Given the description of an element on the screen output the (x, y) to click on. 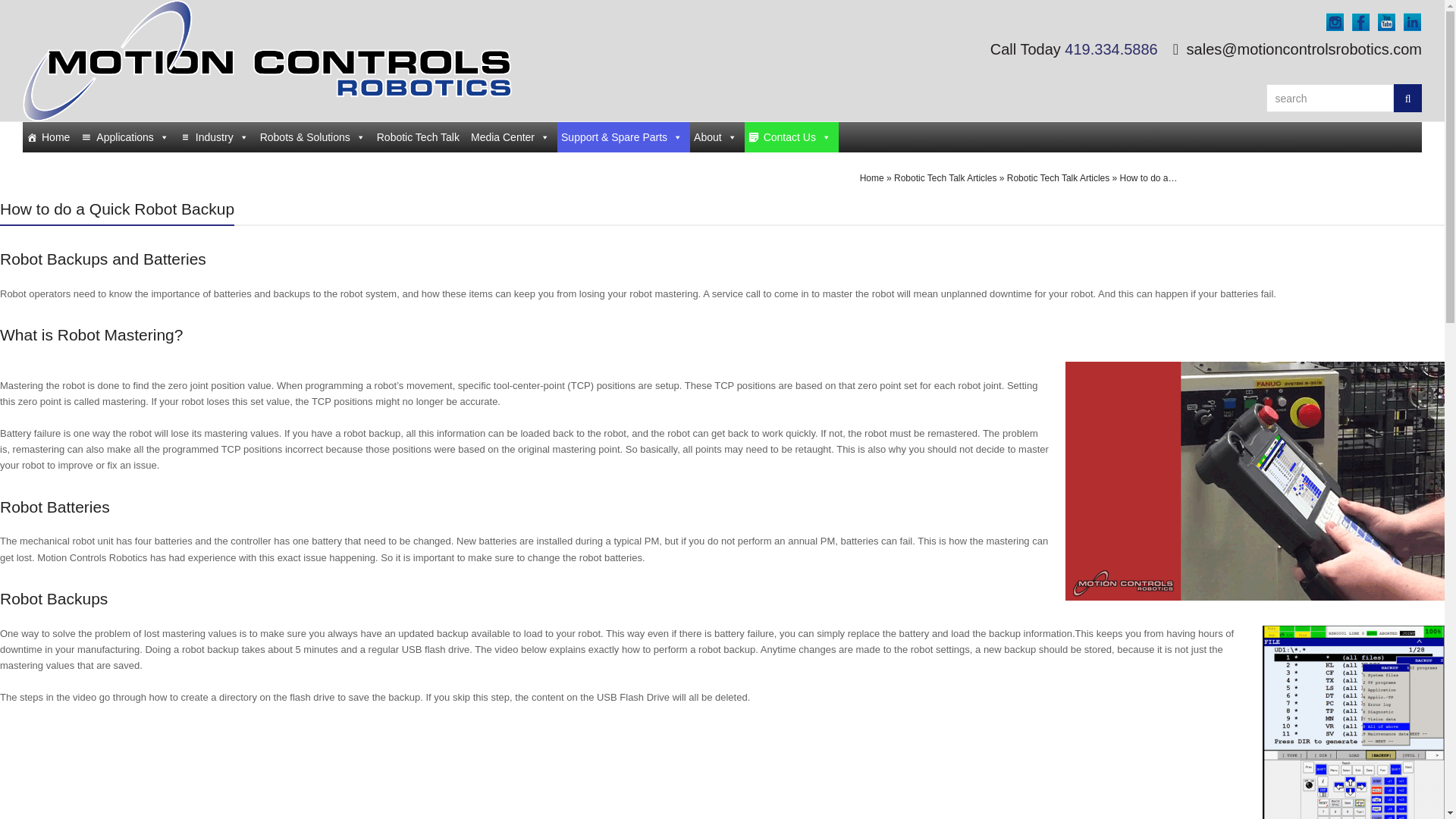
419.334.5886 (1110, 48)
Search (1407, 98)
Home (50, 137)
Applications (126, 137)
Industry (216, 137)
